Given the description of an element on the screen output the (x, y) to click on. 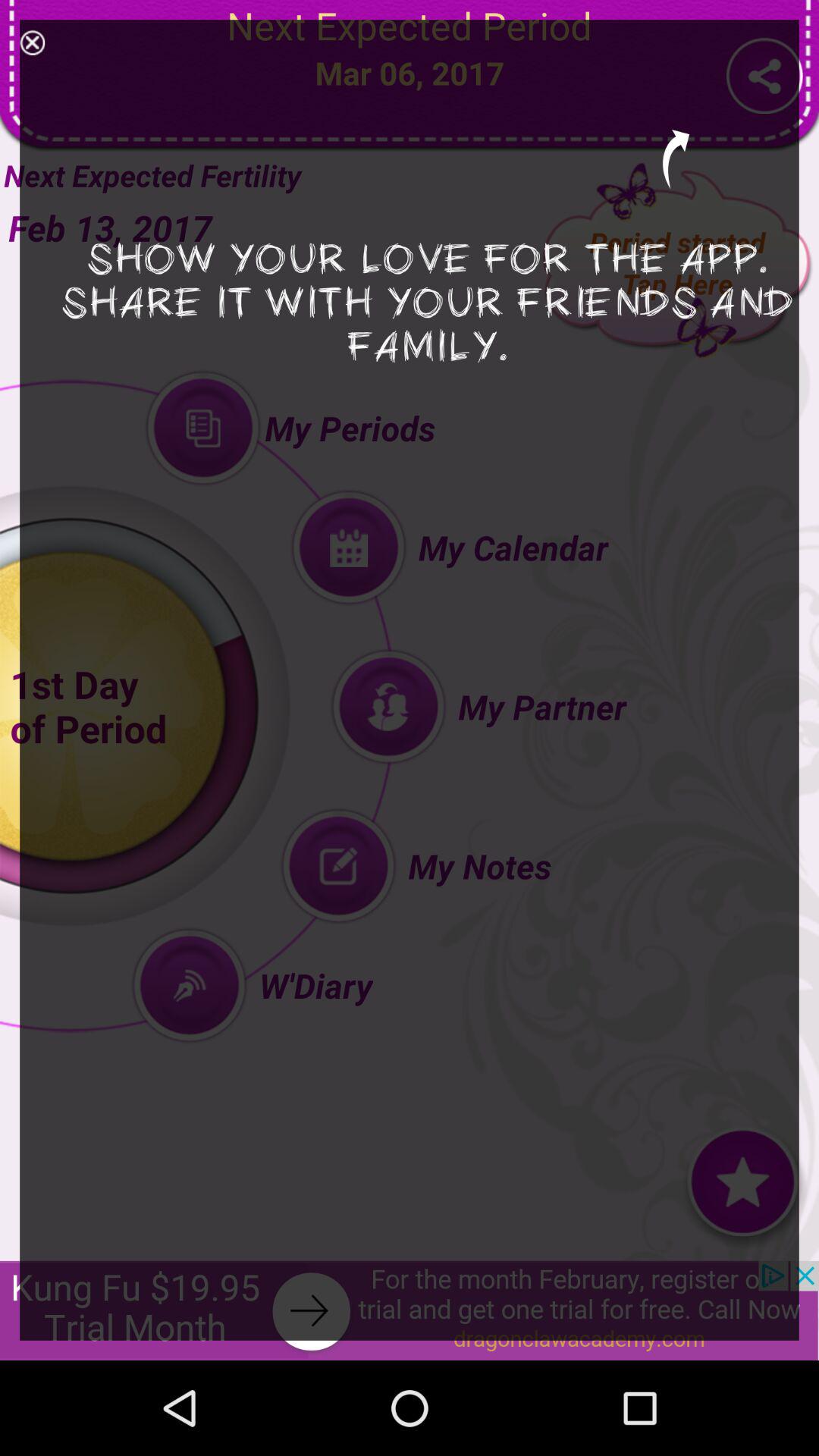
open the icon at the top left corner (31, 42)
